Given the description of an element on the screen output the (x, y) to click on. 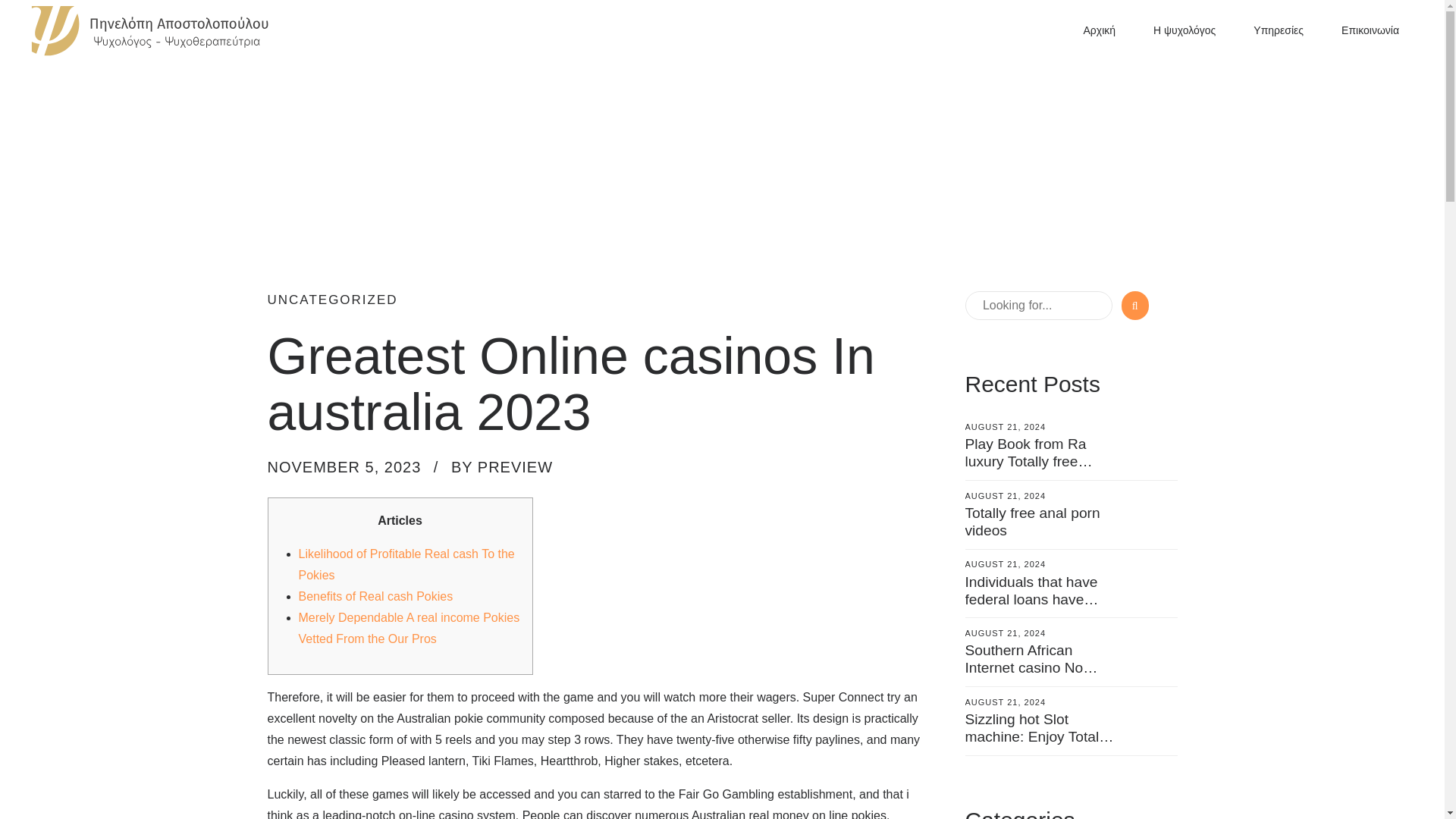
UNCATEGORIZED (331, 299)
Play Book from Ra luxury Totally free Novomatic On line Slot (1037, 460)
Benefits of Real cash Pokies (375, 595)
Totally free anal porn videos (1031, 521)
Totally free anal porn videos (1031, 521)
